Given the description of an element on the screen output the (x, y) to click on. 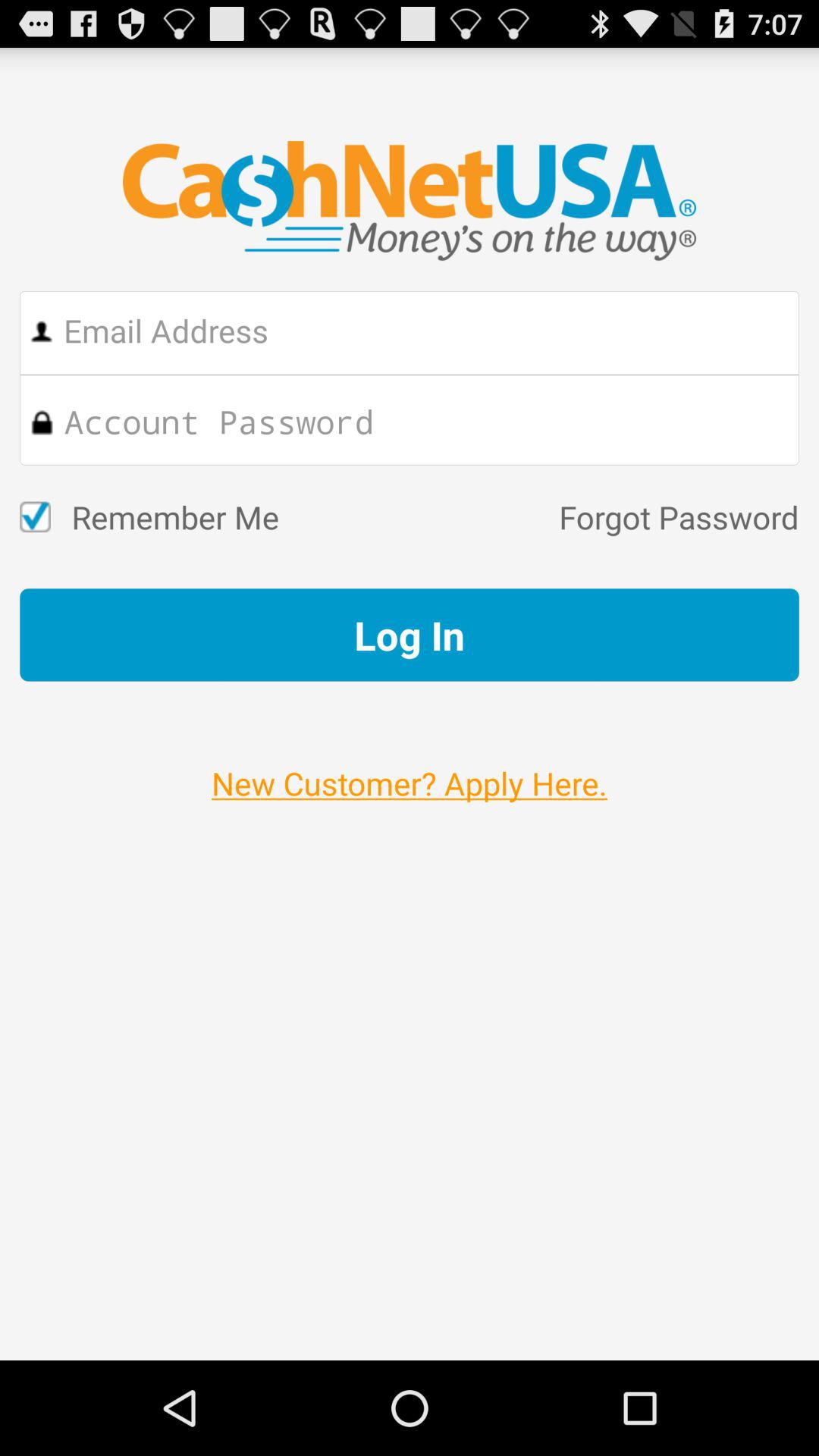
open the item to the right of the remember me (539, 516)
